Given the description of an element on the screen output the (x, y) to click on. 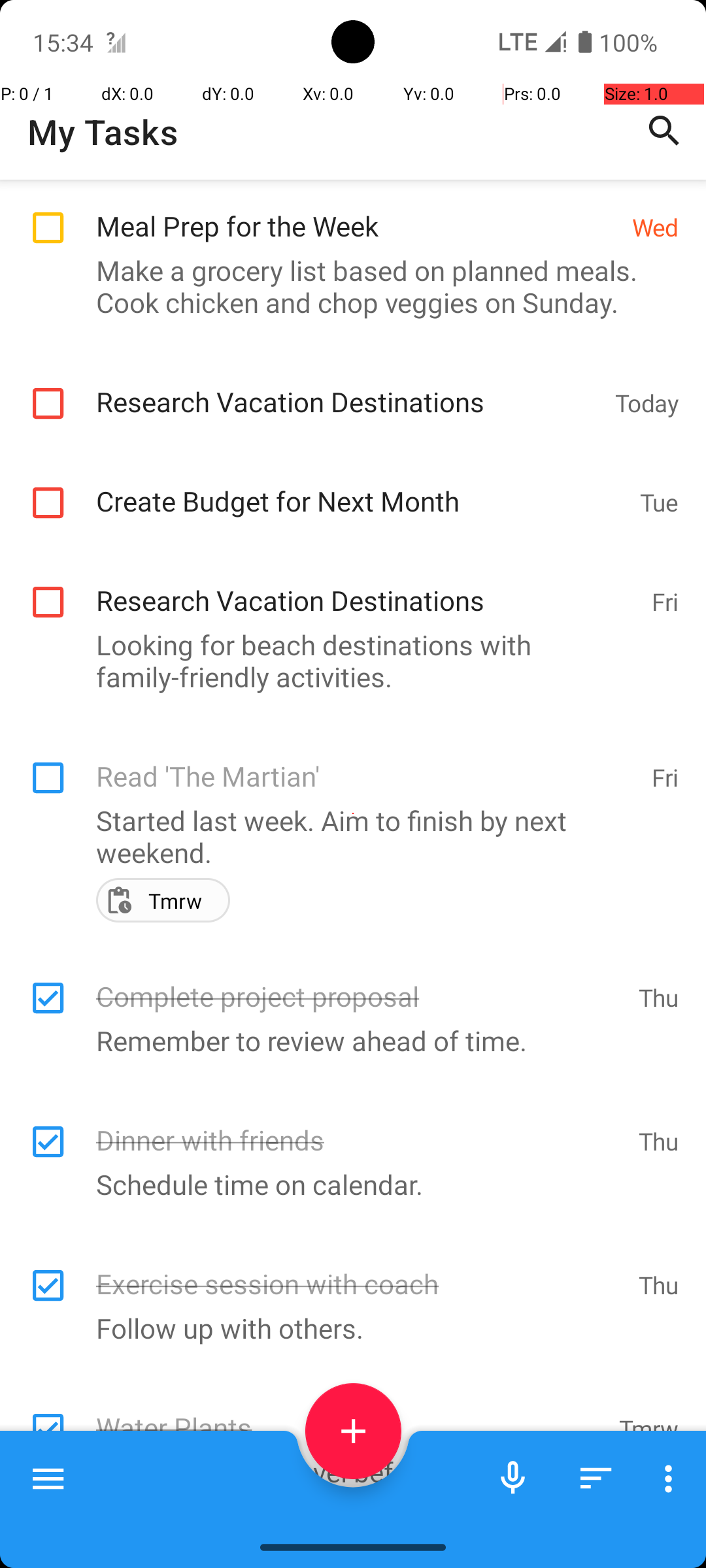
Make a grocery list based on planned meals. Cook chicken and chop veggies on Sunday. Element type: android.widget.TextView (346, 285)
Looking for beach destinations with family-friendly activities. Element type: android.widget.TextView (346, 660)
Started last week. Aim to finish by next weekend. Element type: android.widget.TextView (346, 835)
Complete project proposal Element type: android.widget.TextView (360, 981)
Remember to review ahead of time. Element type: android.widget.TextView (346, 1040)
Dinner with friends Element type: android.widget.TextView (360, 1125)
Schedule time on calendar. Element type: android.widget.TextView (346, 1183)
Exercise session with coach Element type: android.widget.TextView (360, 1269)
Follow up with others. Element type: android.widget.TextView (346, 1327)
Check moisture level before watering. Fertilize succulents. Element type: android.widget.TextView (346, 1487)
